Given the description of an element on the screen output the (x, y) to click on. 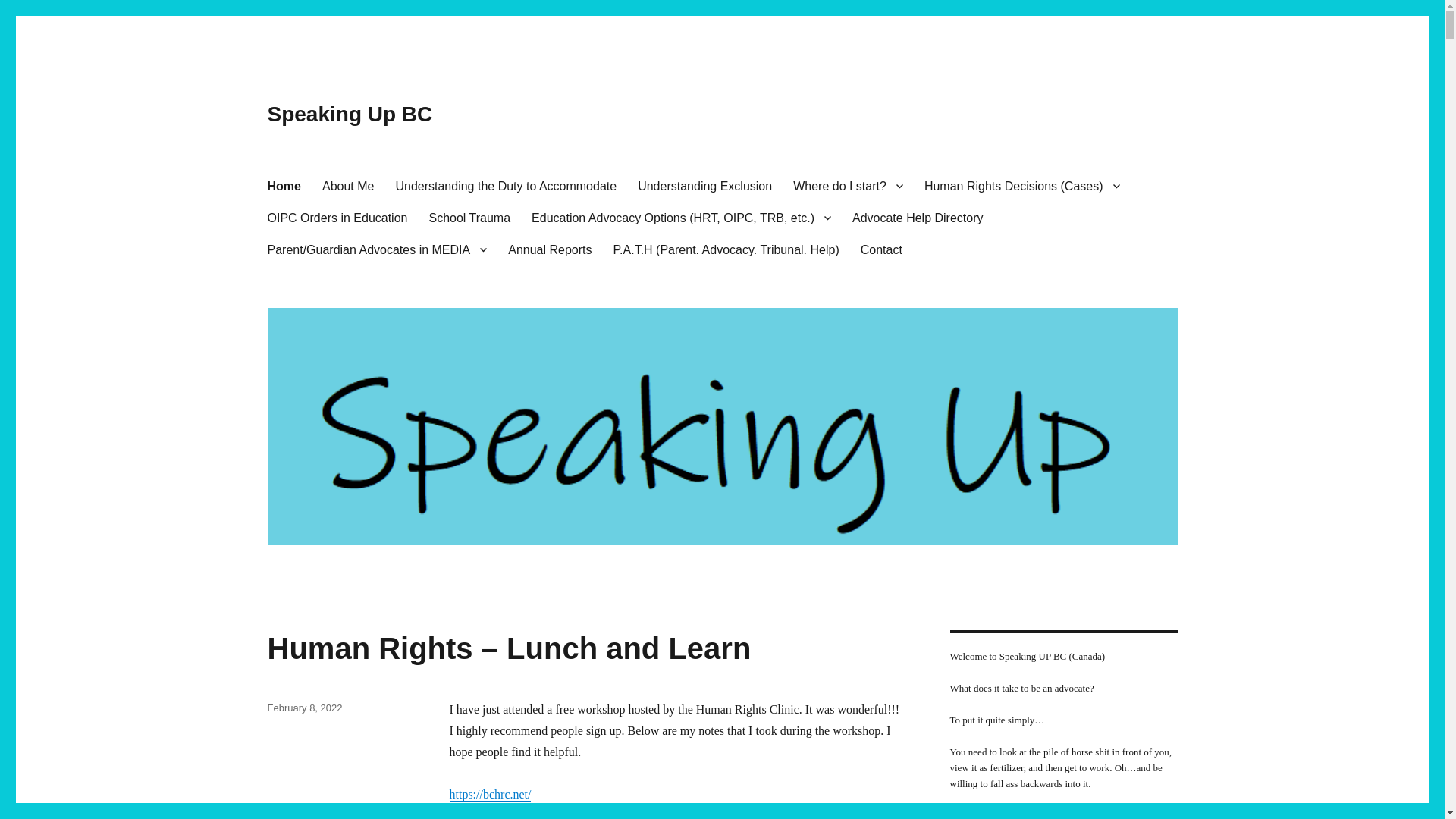
OIPC Orders in Education (336, 217)
Where do I start? (848, 185)
Understanding Exclusion (705, 185)
Understanding the Duty to Accommodate (505, 185)
About Me (347, 185)
Speaking Up BC (349, 114)
Home (283, 185)
School Trauma (469, 217)
